Given the description of an element on the screen output the (x, y) to click on. 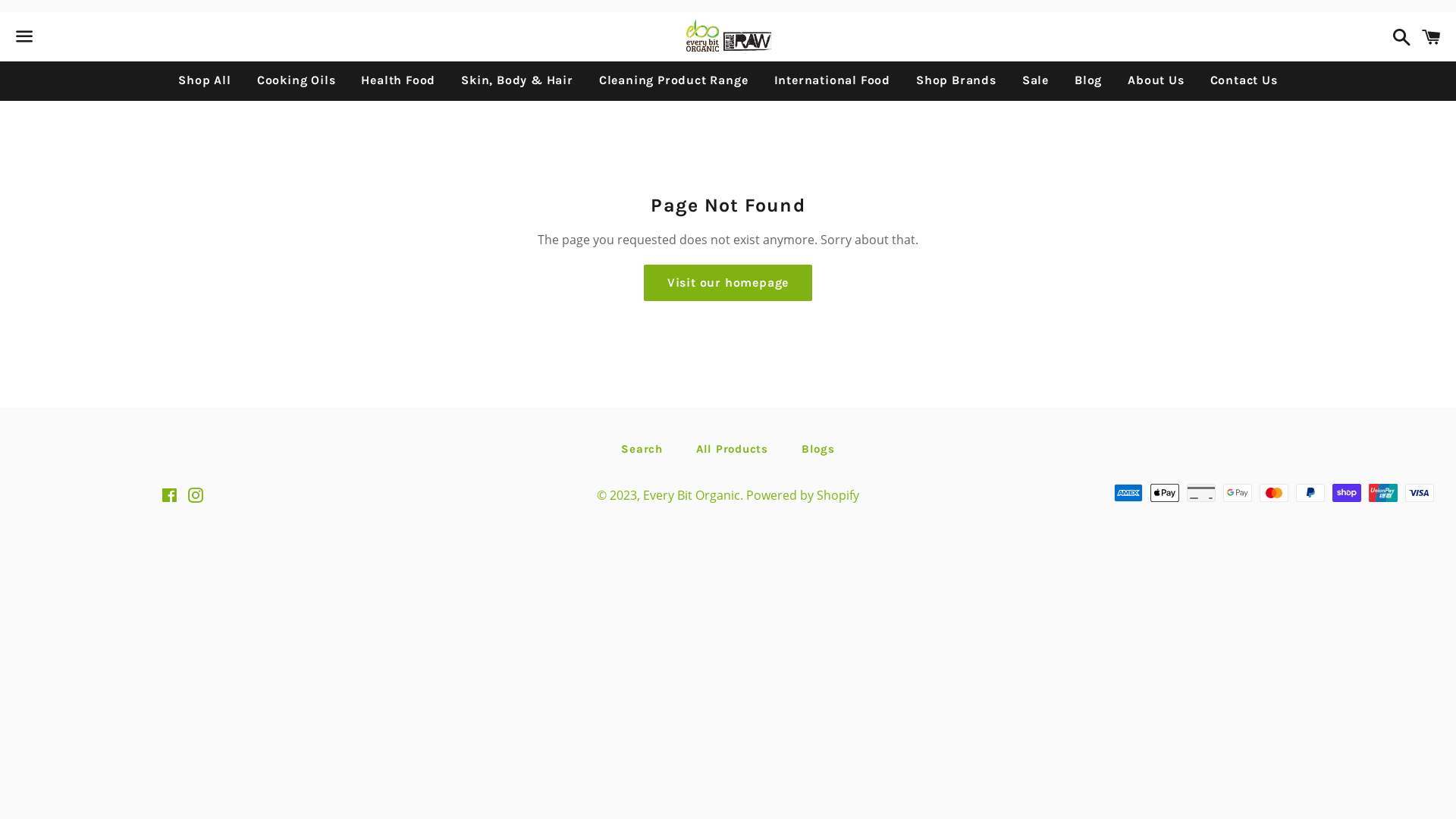
Instagram Element type: text (195, 496)
Cleaning Product Range Element type: text (673, 80)
Shop Brands Element type: text (955, 80)
Every Bit Organic Element type: text (691, 494)
Skin, Body & Hair Element type: text (516, 80)
All Products Element type: text (731, 449)
Facebook Element type: text (168, 496)
Search Element type: text (1397, 36)
International Food Element type: text (831, 80)
Visit our homepage Element type: text (727, 282)
Cart Element type: text (1431, 36)
Blog Element type: text (1088, 80)
Blogs Element type: text (818, 449)
Cooking Oils Element type: text (296, 80)
Shop All Element type: text (203, 80)
Search Element type: text (641, 449)
About Us Element type: text (1155, 80)
Health Food Element type: text (397, 80)
Sale Element type: text (1035, 80)
Powered by Shopify Element type: text (802, 494)
Contact Us Element type: text (1243, 80)
Menu Element type: text (24, 36)
